Given the description of an element on the screen output the (x, y) to click on. 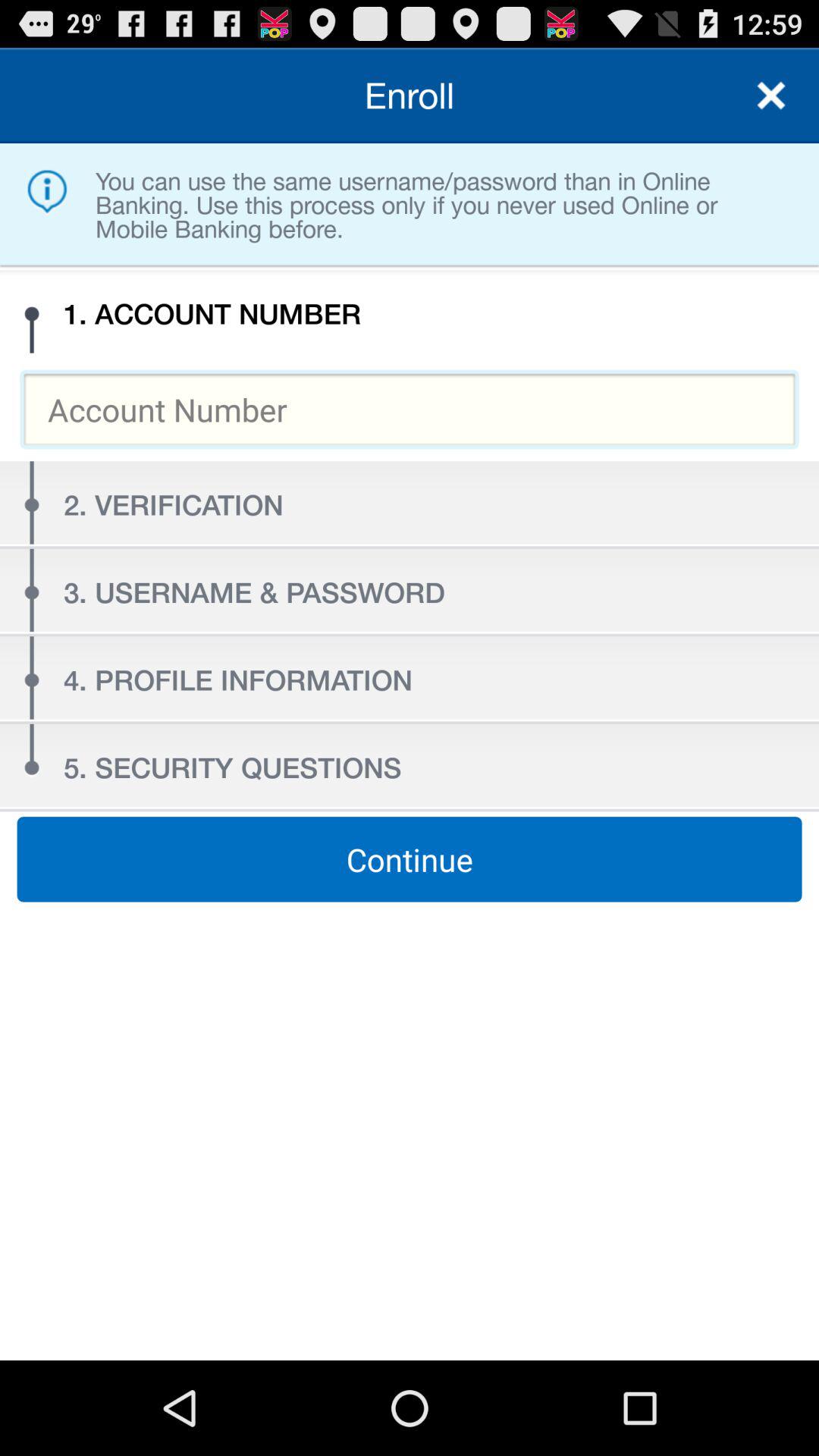
exit out of page (771, 95)
